Given the description of an element on the screen output the (x, y) to click on. 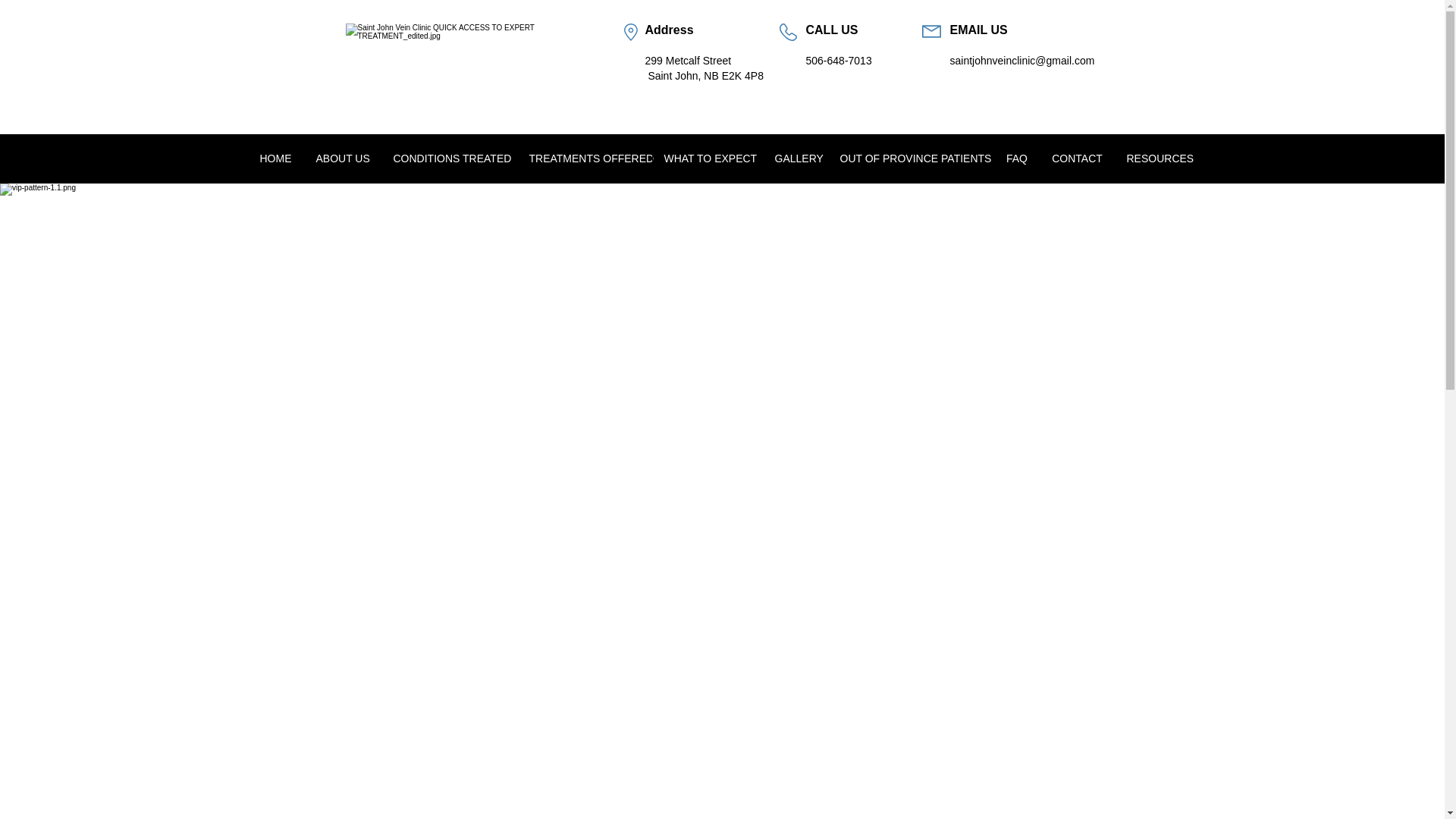
506-648-7013 (837, 60)
FAQ (1015, 158)
HOME (274, 158)
GALLERY (795, 158)
OUT OF PROVINCE PATIENTS (911, 158)
WHAT TO EXPECT (707, 158)
CONTACT (1076, 158)
CONDITIONS TREATED (448, 158)
